Given the description of an element on the screen output the (x, y) to click on. 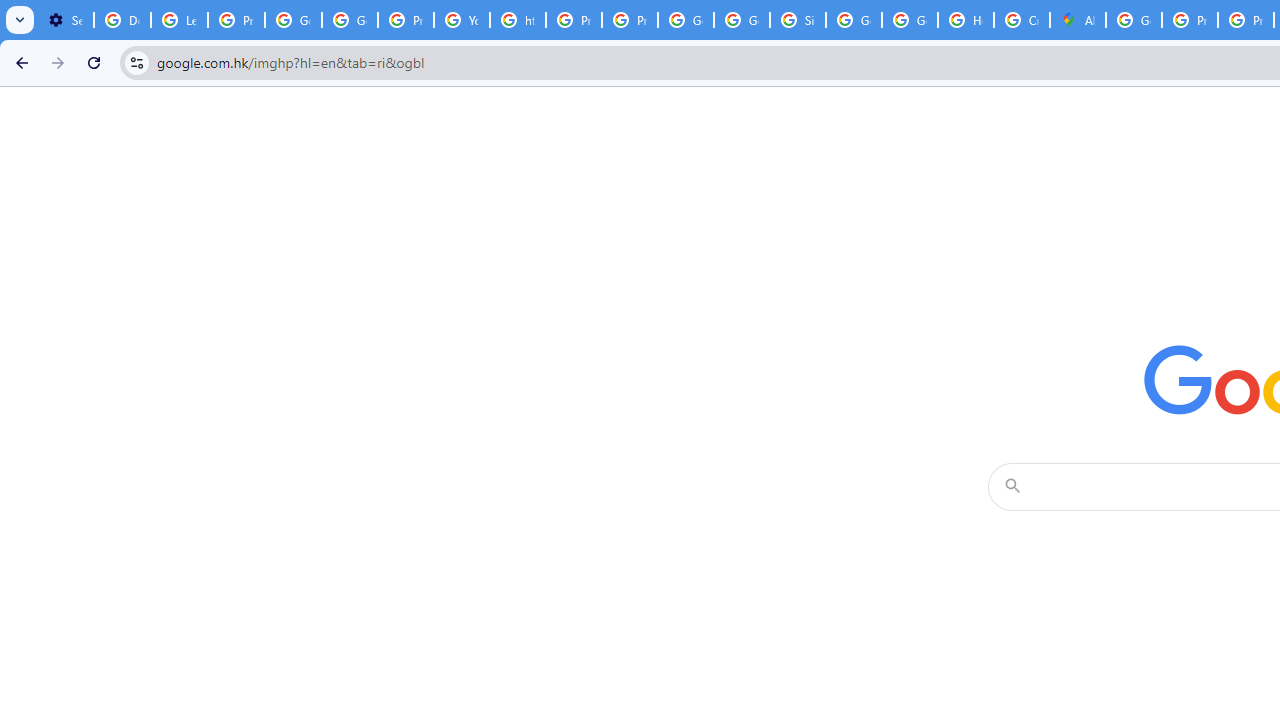
Create your Google Account (1021, 20)
YouTube (461, 20)
Sign in - Google Accounts (797, 20)
